Given the description of an element on the screen output the (x, y) to click on. 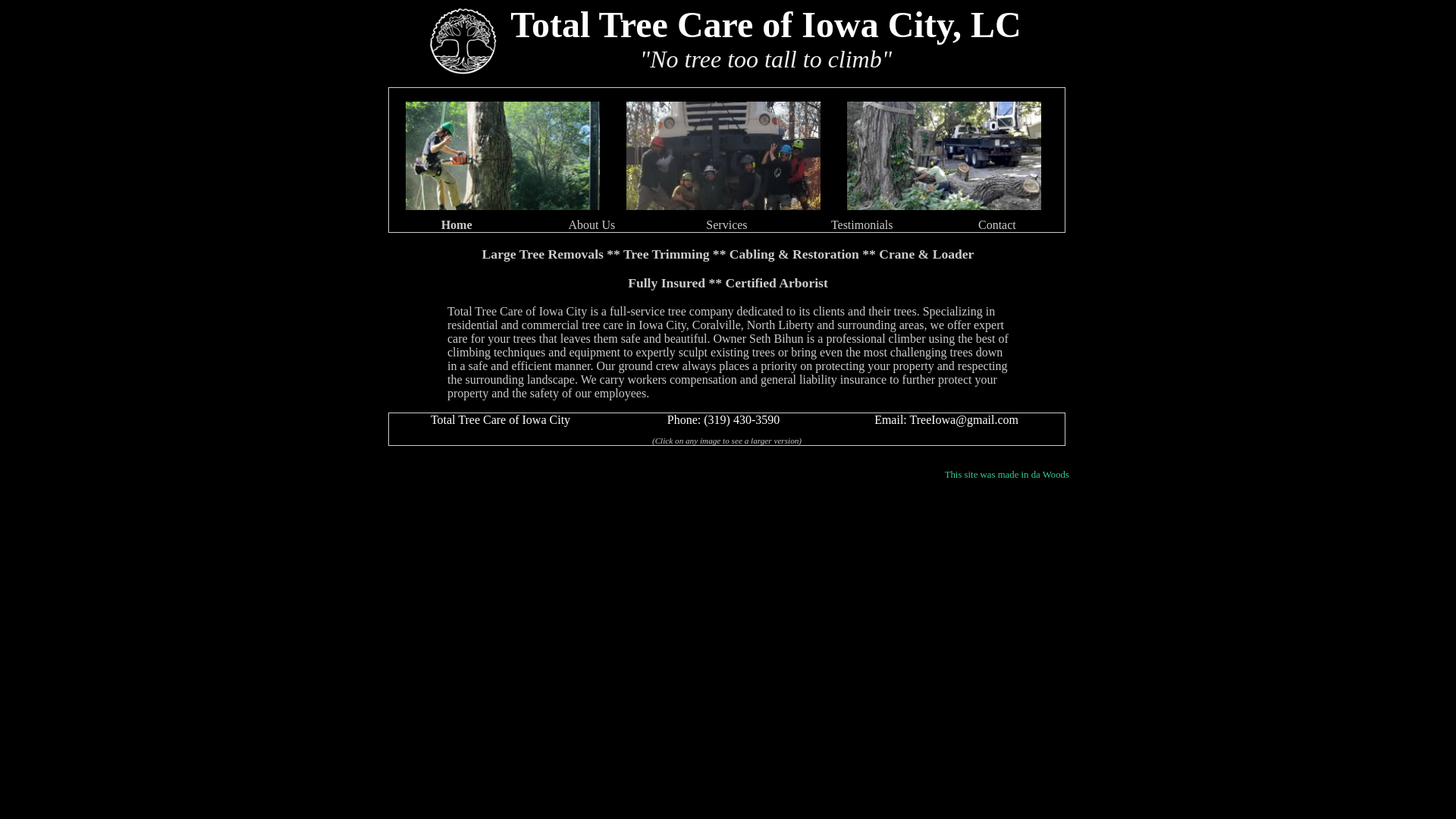
About Us (590, 224)
Testimonials (862, 224)
Services (726, 224)
Contact (997, 224)
Home (456, 224)
